Given the description of an element on the screen output the (x, y) to click on. 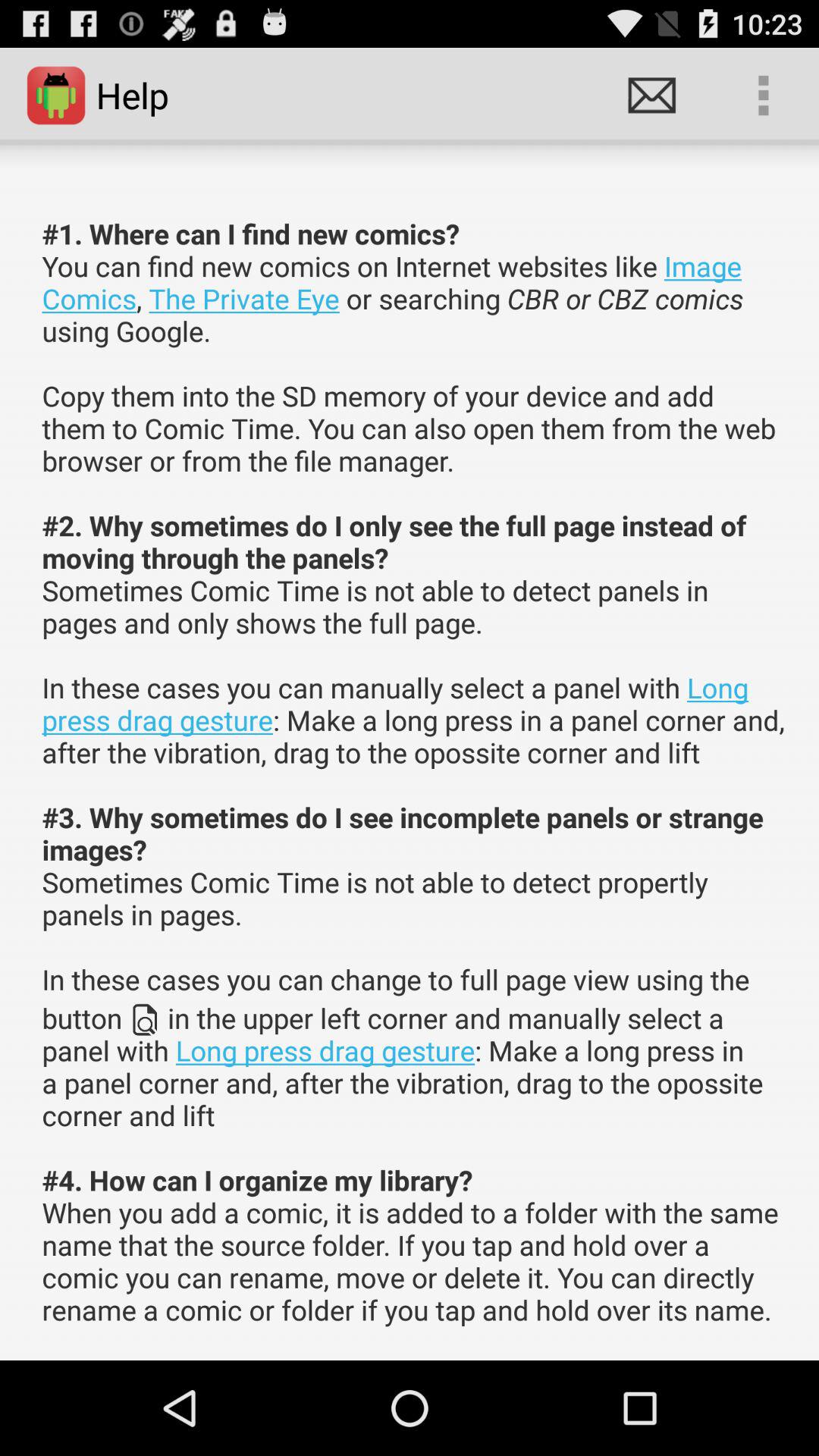
turn off the icon to the right of the help icon (651, 95)
